Given the description of an element on the screen output the (x, y) to click on. 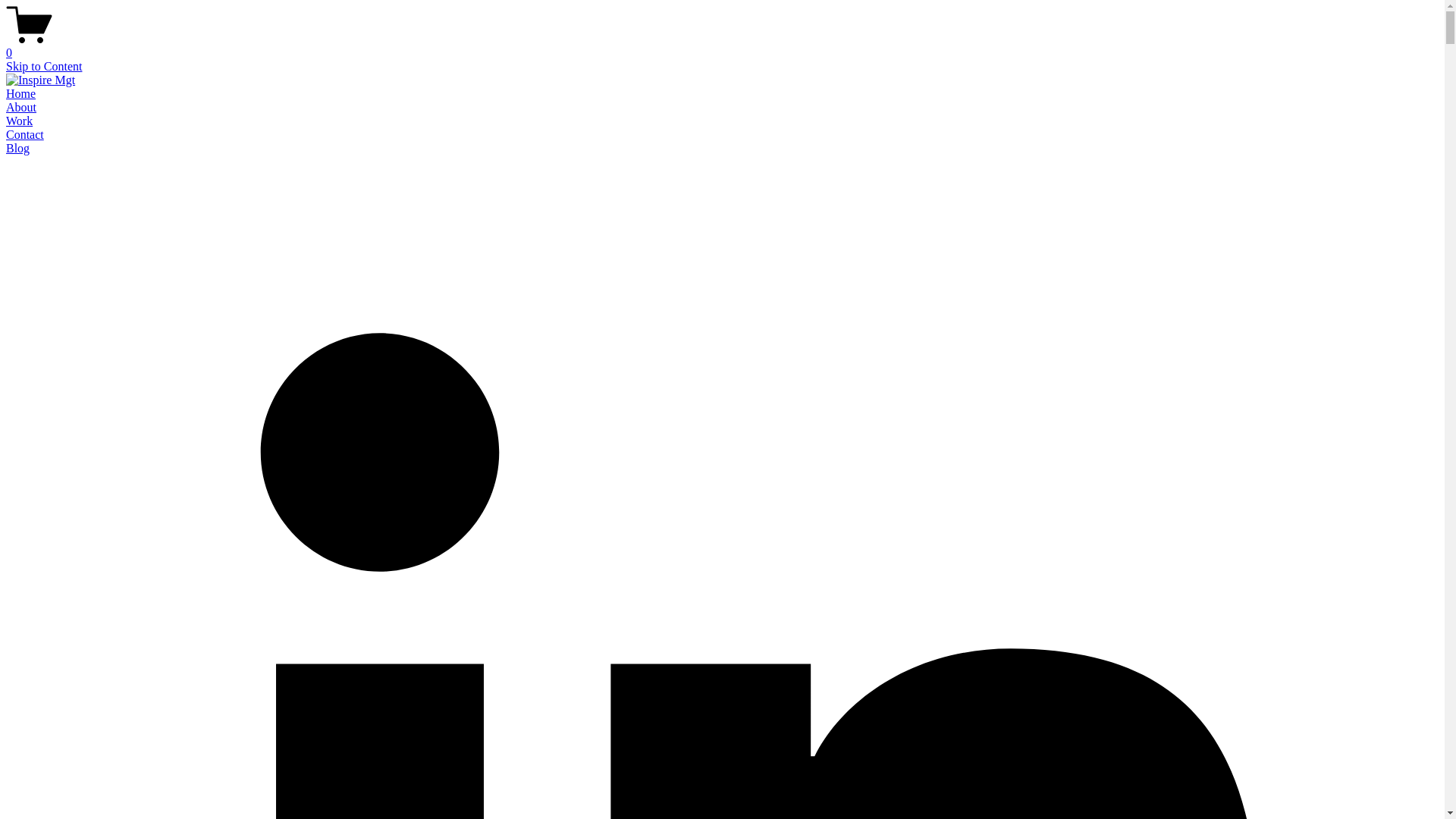
Contact Element type: text (24, 134)
0 Element type: text (722, 45)
Blog Element type: text (17, 147)
About Element type: text (21, 106)
Home Element type: text (20, 93)
Skip to Content Element type: text (43, 65)
Work Element type: text (19, 120)
